Given the description of an element on the screen output the (x, y) to click on. 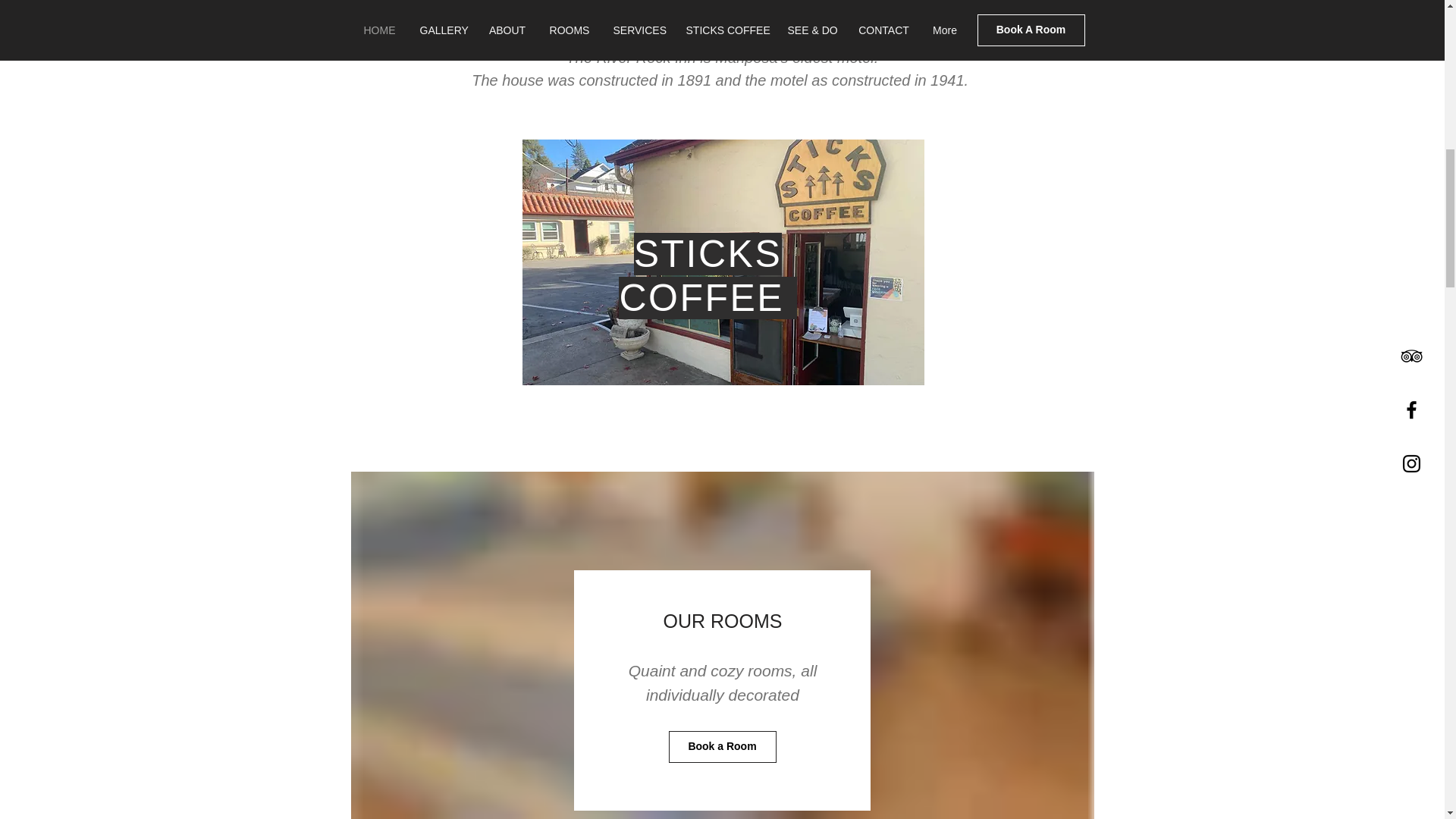
YARTS (823, 34)
Book a Room (722, 746)
